Given the description of an element on the screen output the (x, y) to click on. 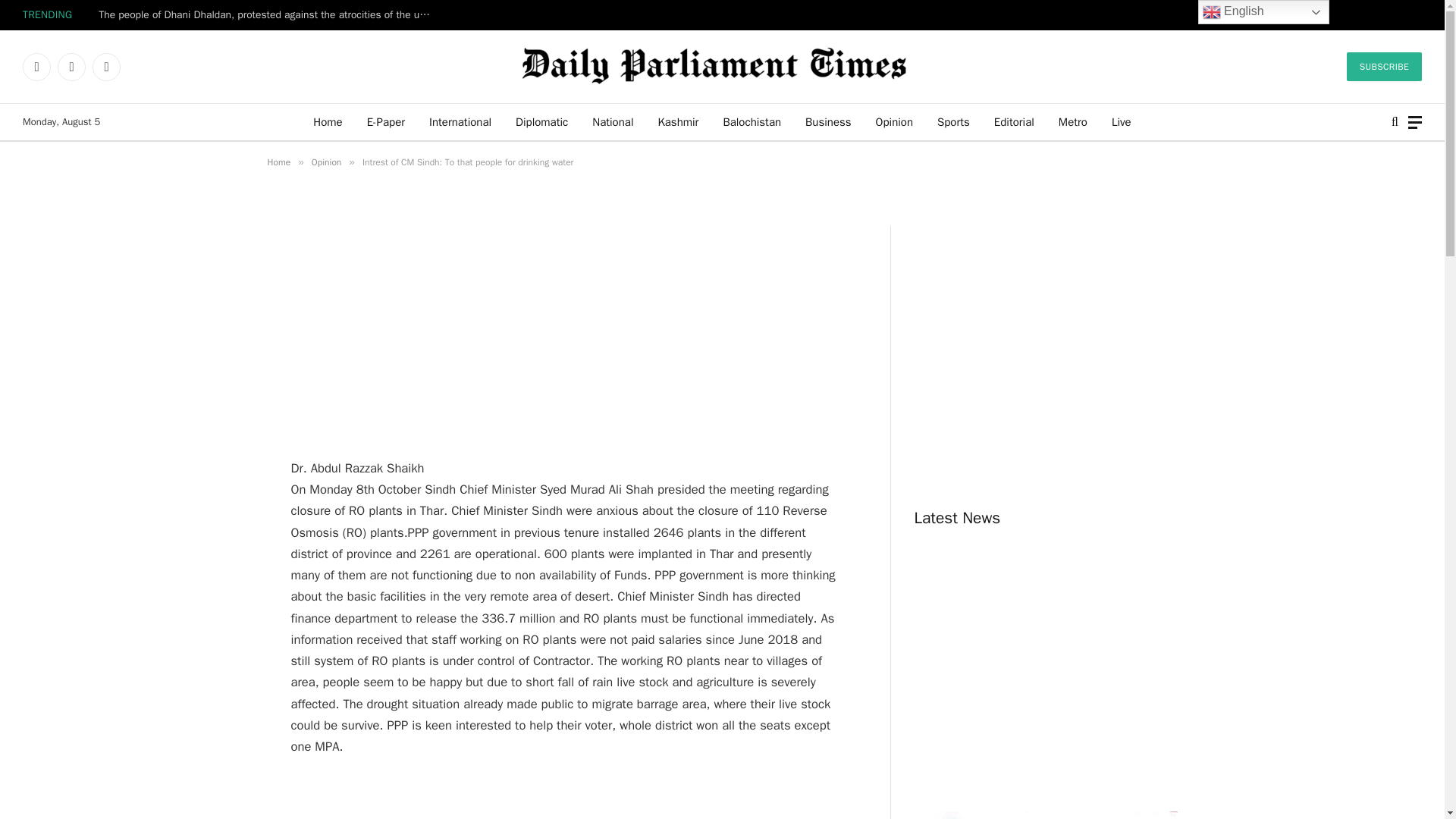
Facebook (36, 67)
Metro (1072, 122)
Instagram (106, 67)
Kashmir (677, 122)
Business (828, 122)
Advertisement (566, 798)
Editorial (1013, 122)
E-Paper (385, 122)
Sports (952, 122)
Balochistan (751, 122)
